Given the description of an element on the screen output the (x, y) to click on. 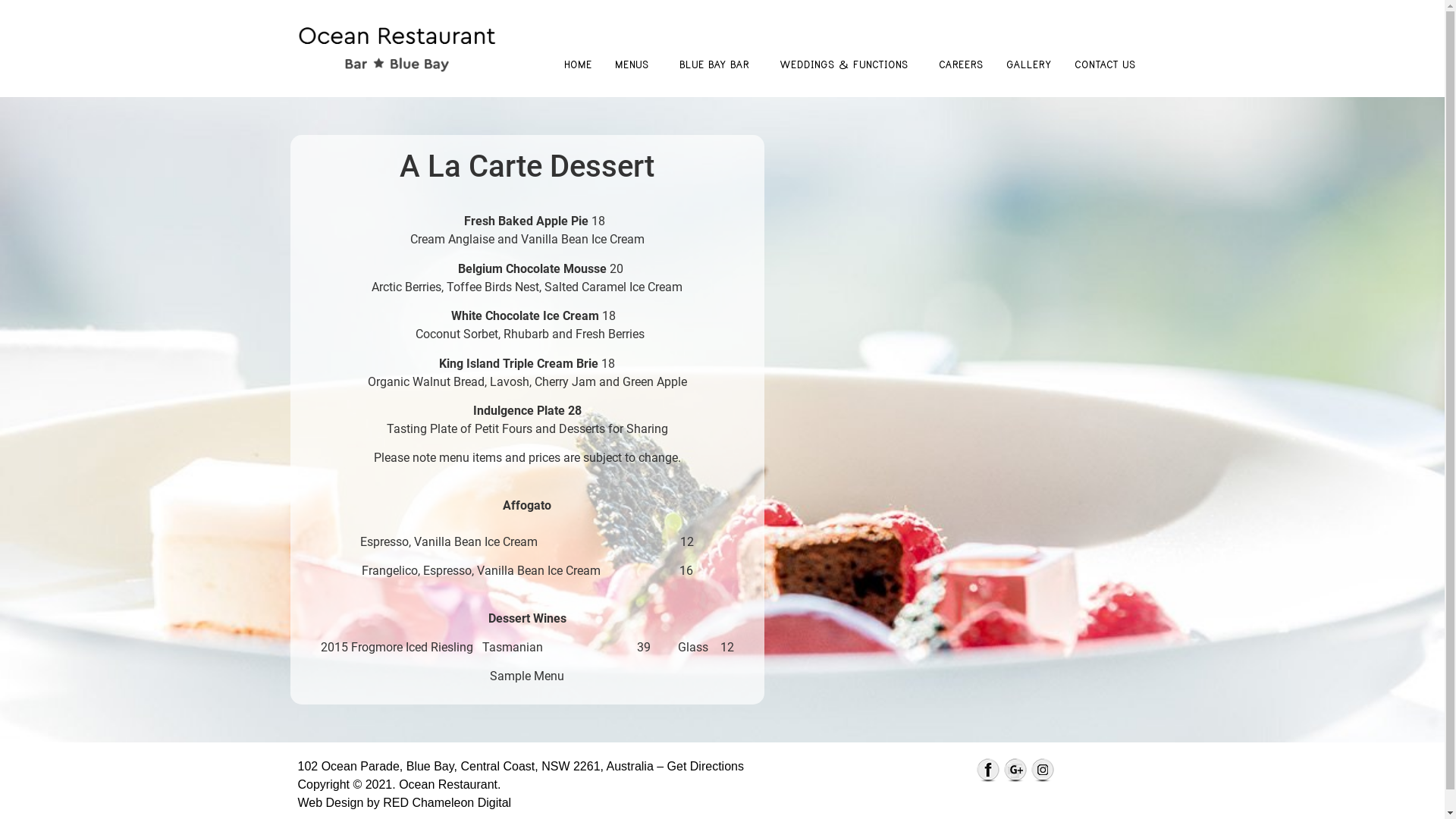
MENUS Element type: text (635, 64)
BLUE BAY BAR Element type: text (717, 64)
CONTACT US Element type: text (1108, 64)
HOME Element type: text (577, 64)
Get Directions Element type: text (707, 765)
GALLERY Element type: text (1028, 64)
CAREERS Element type: text (960, 64)
RED Chameleon Digital Element type: text (445, 802)
WEDDINGS & FUNCTIONS Element type: text (846, 64)
